Given the description of an element on the screen output the (x, y) to click on. 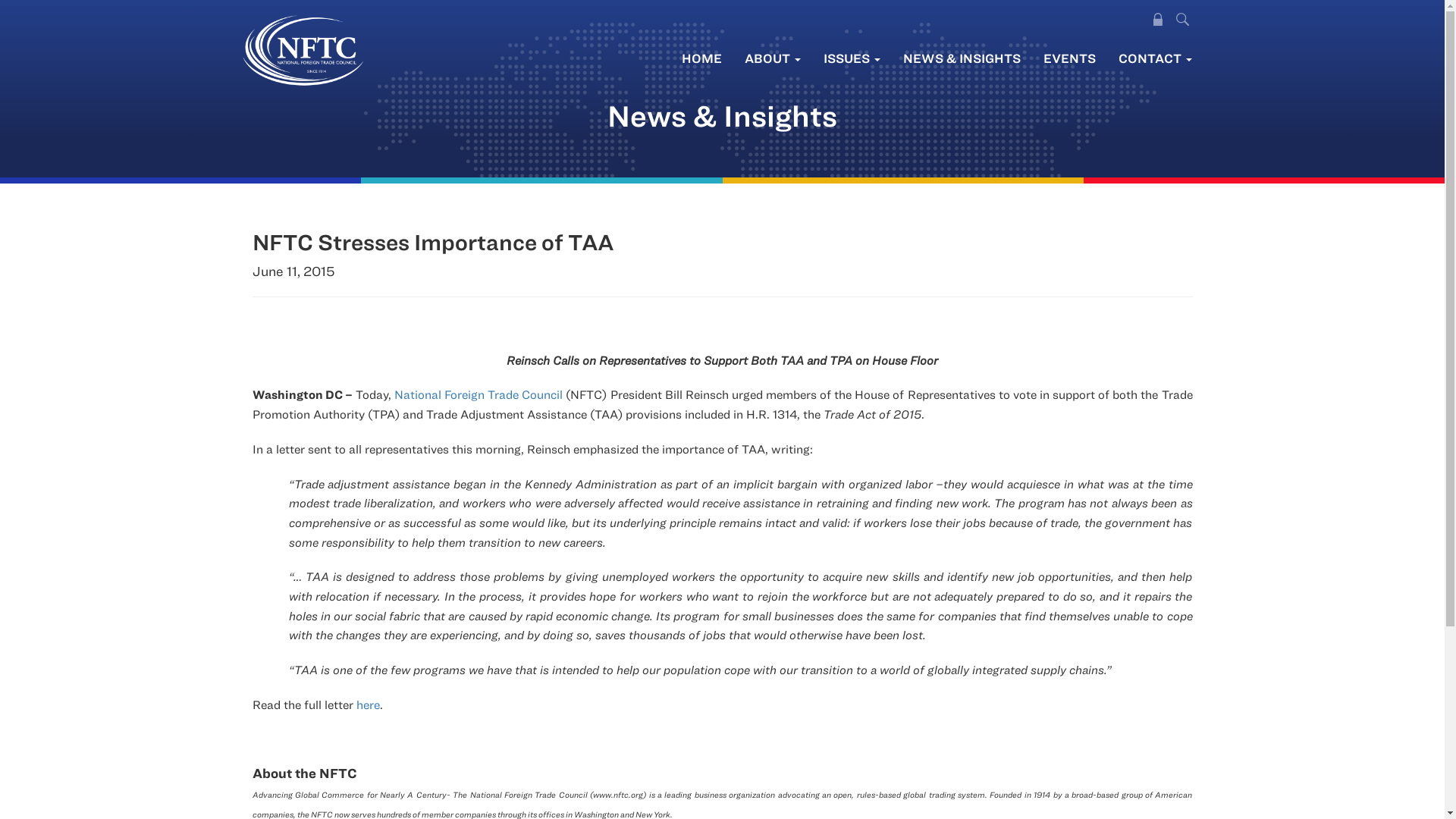
CONTACT (1155, 57)
ISSUES (850, 57)
National Foreign Trade Council (478, 393)
HOME (701, 57)
ABOUT (771, 57)
EVENTS (1068, 57)
here (368, 703)
